Given the description of an element on the screen output the (x, y) to click on. 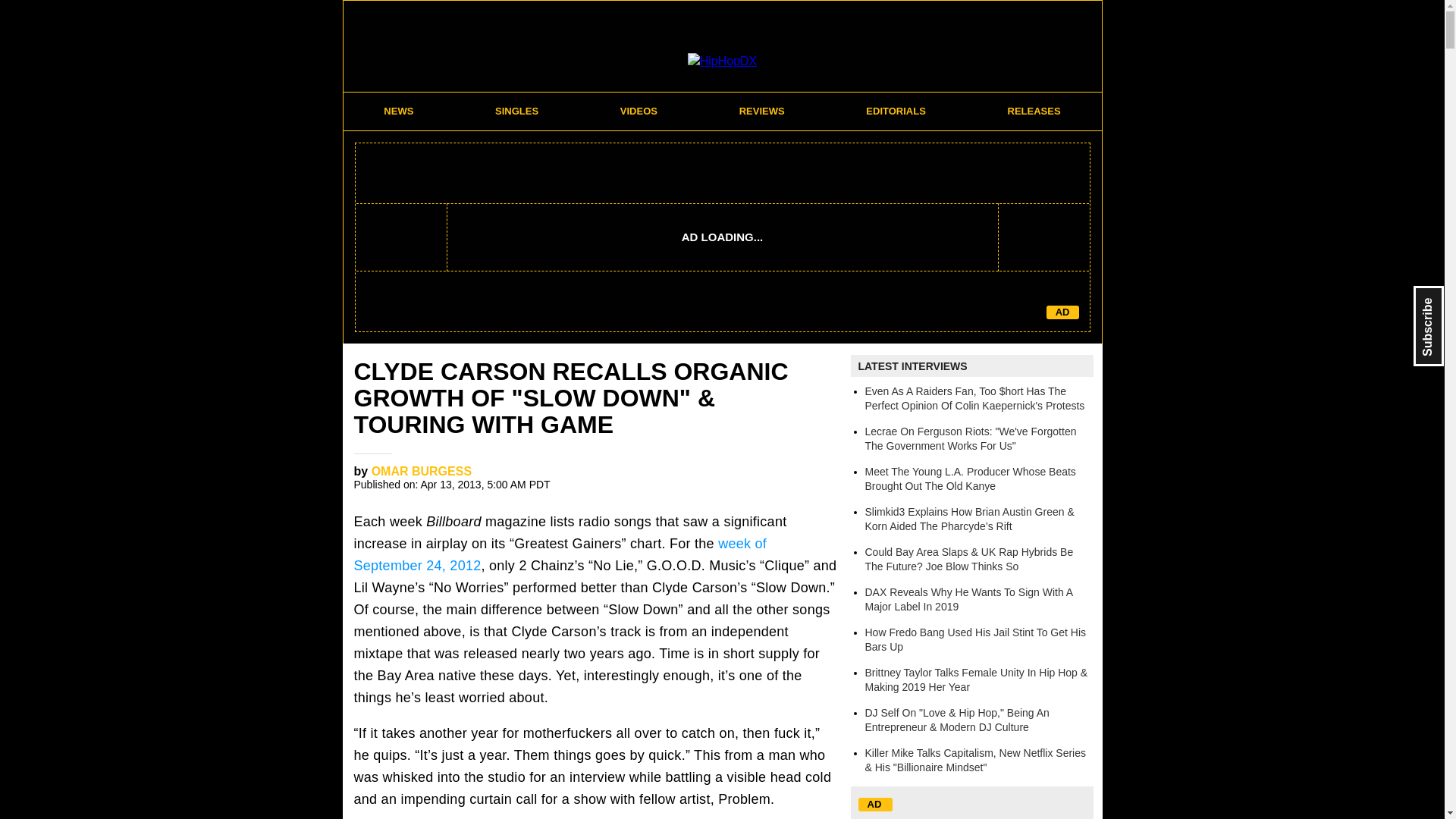
SINGLES (516, 111)
RELEASES (1034, 111)
VIDEOS (638, 111)
OMAR BURGESS (421, 471)
4 (810, 477)
week of September 24, 2012 (560, 554)
EDITORIALS (895, 111)
NEWS (398, 111)
REVIEWS (761, 111)
